Given the description of an element on the screen output the (x, y) to click on. 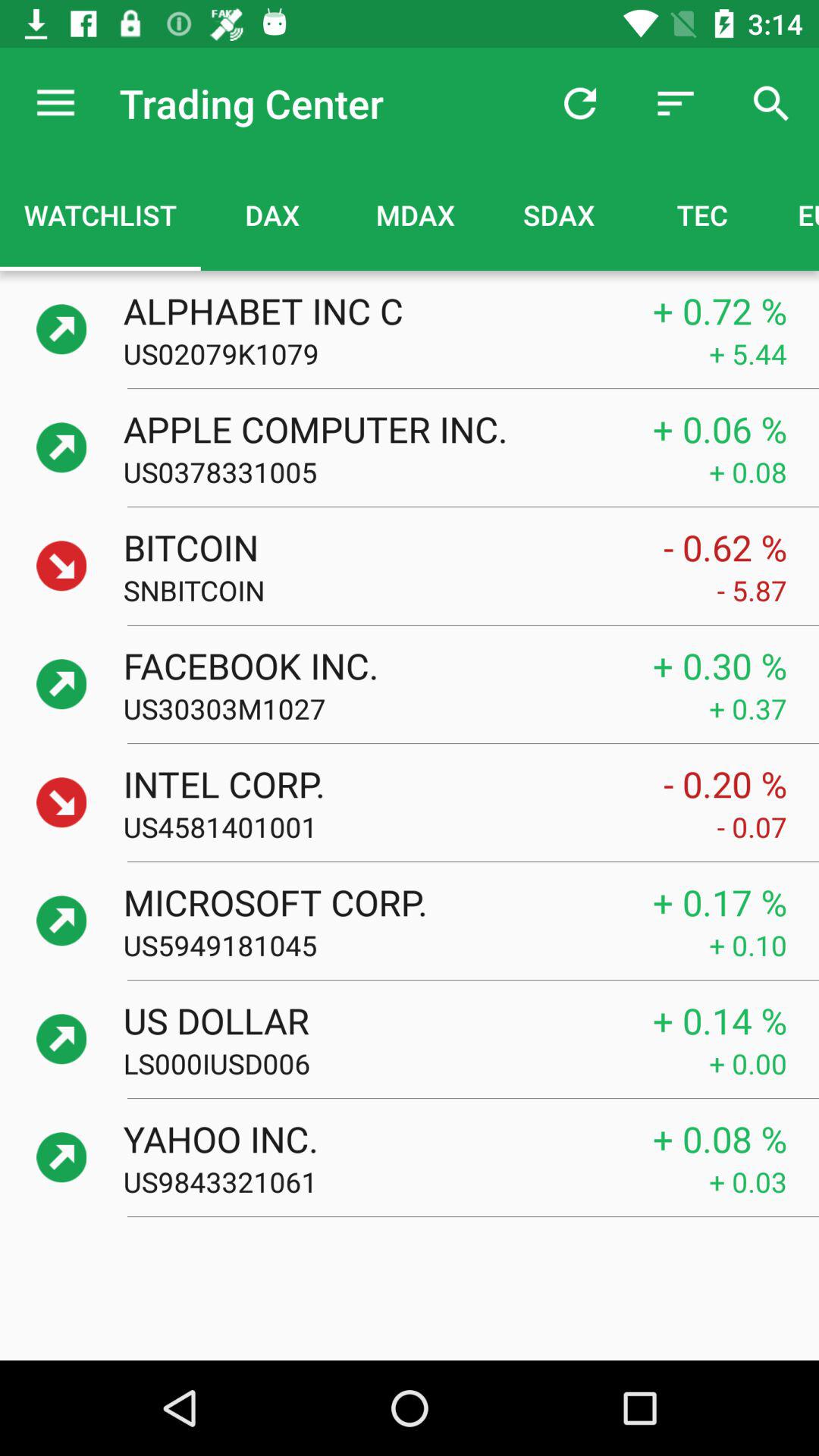
turn off the icon next to the trading center (579, 103)
